Given the description of an element on the screen output the (x, y) to click on. 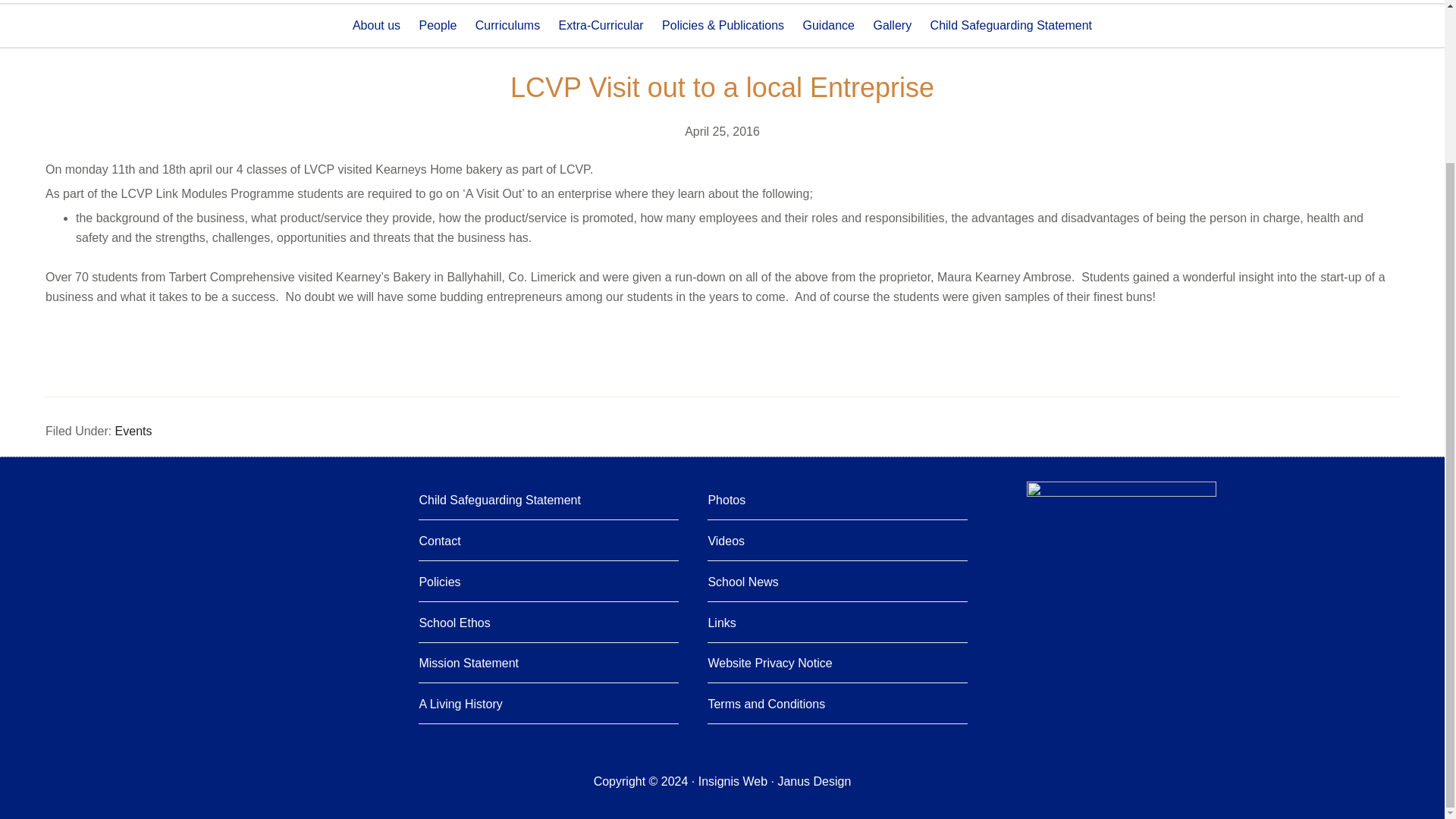
People (438, 25)
About us (376, 25)
Extra-Curricular (600, 25)
Curriculums (507, 25)
Tarbert Comprehensive School (149, 5)
